Given the description of an element on the screen output the (x, y) to click on. 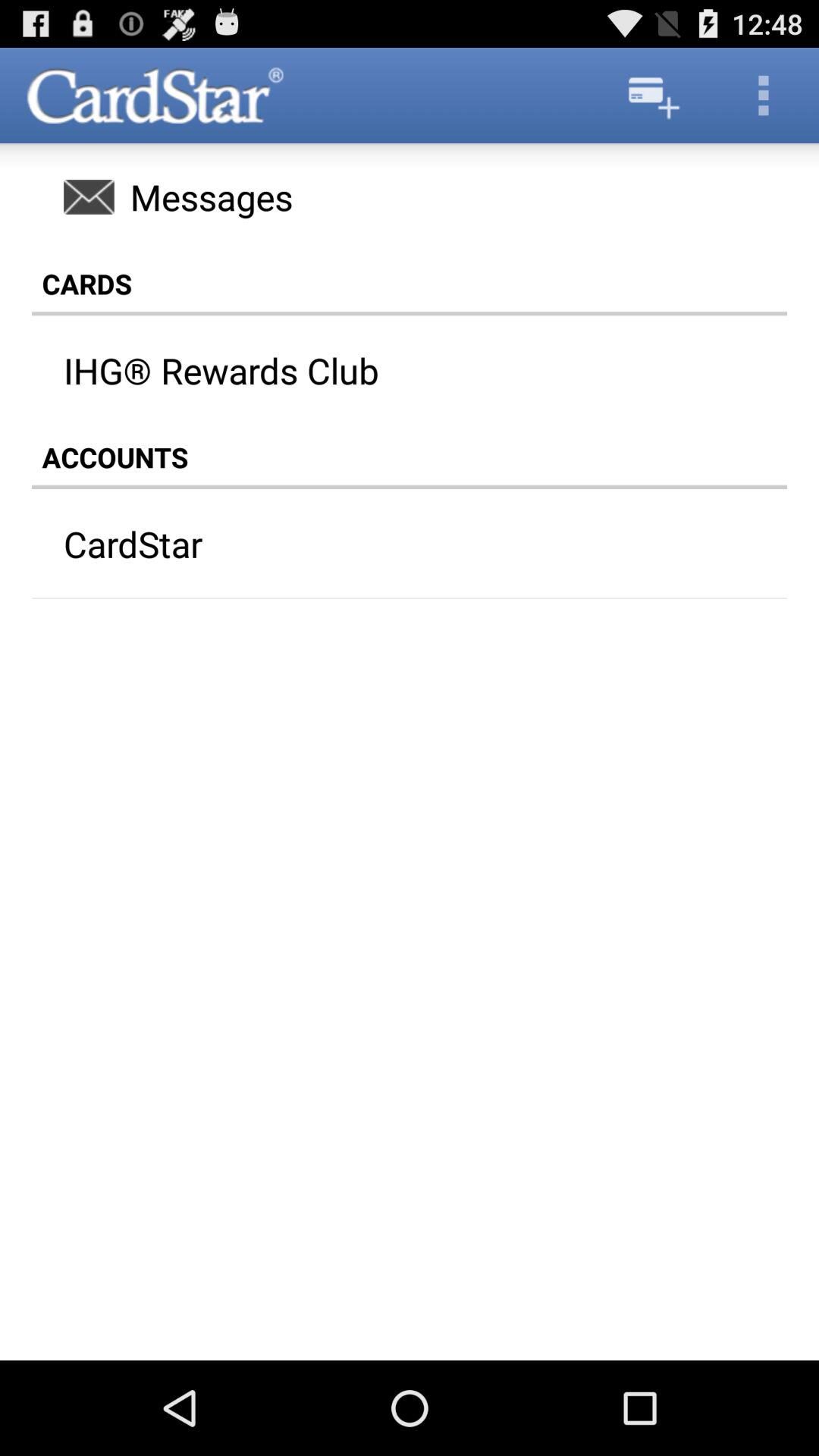
open app below cards (425, 370)
